Given the description of an element on the screen output the (x, y) to click on. 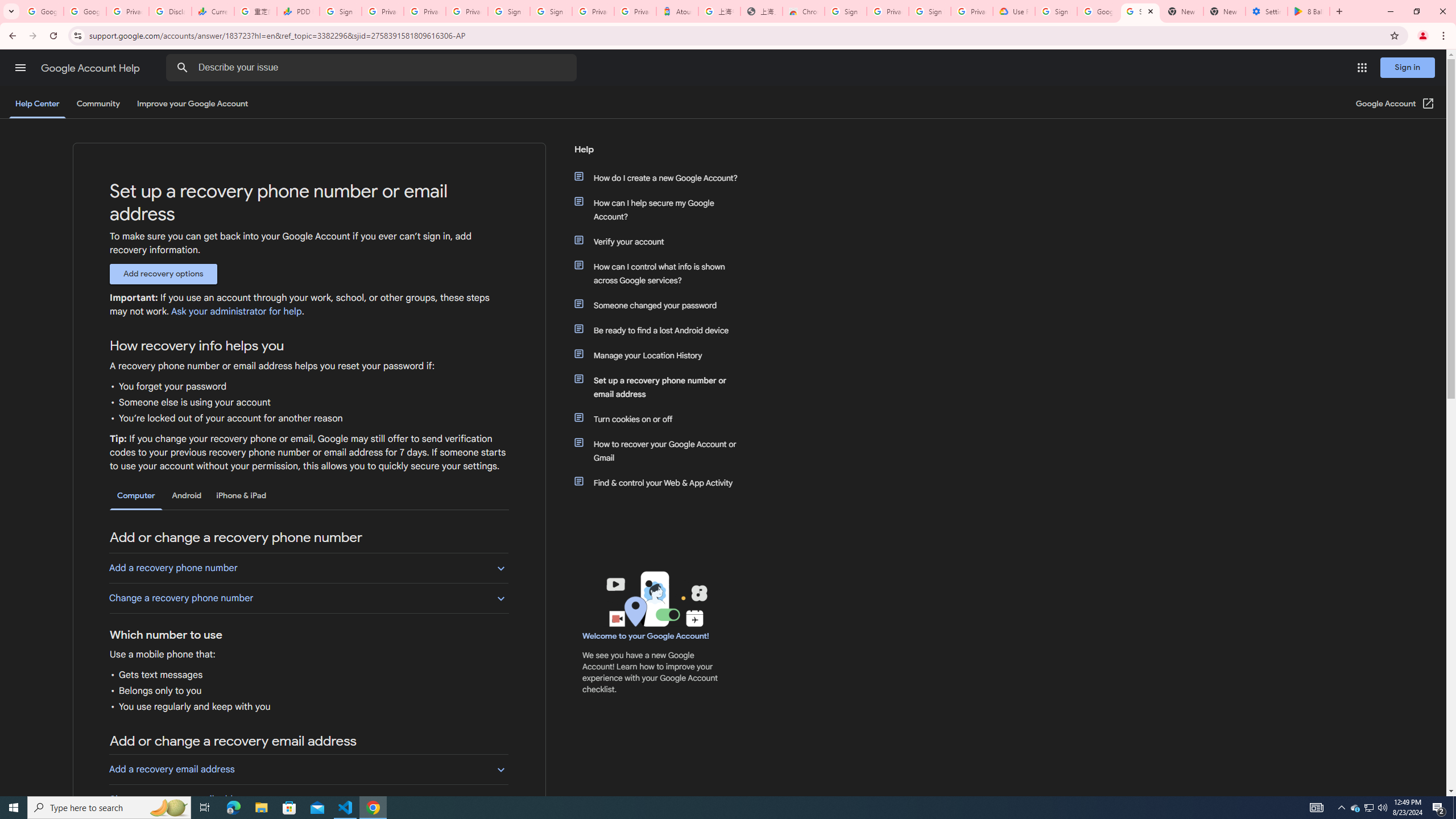
Chrome Web Store - Color themes by Chrome (803, 11)
Google Account Help (91, 68)
Add recovery options (162, 273)
How do I create a new Google Account? (661, 177)
Change a recovery email address (308, 799)
Change a recovery phone number (308, 598)
Currencies - Google Finance (212, 11)
